Given the description of an element on the screen output the (x, y) to click on. 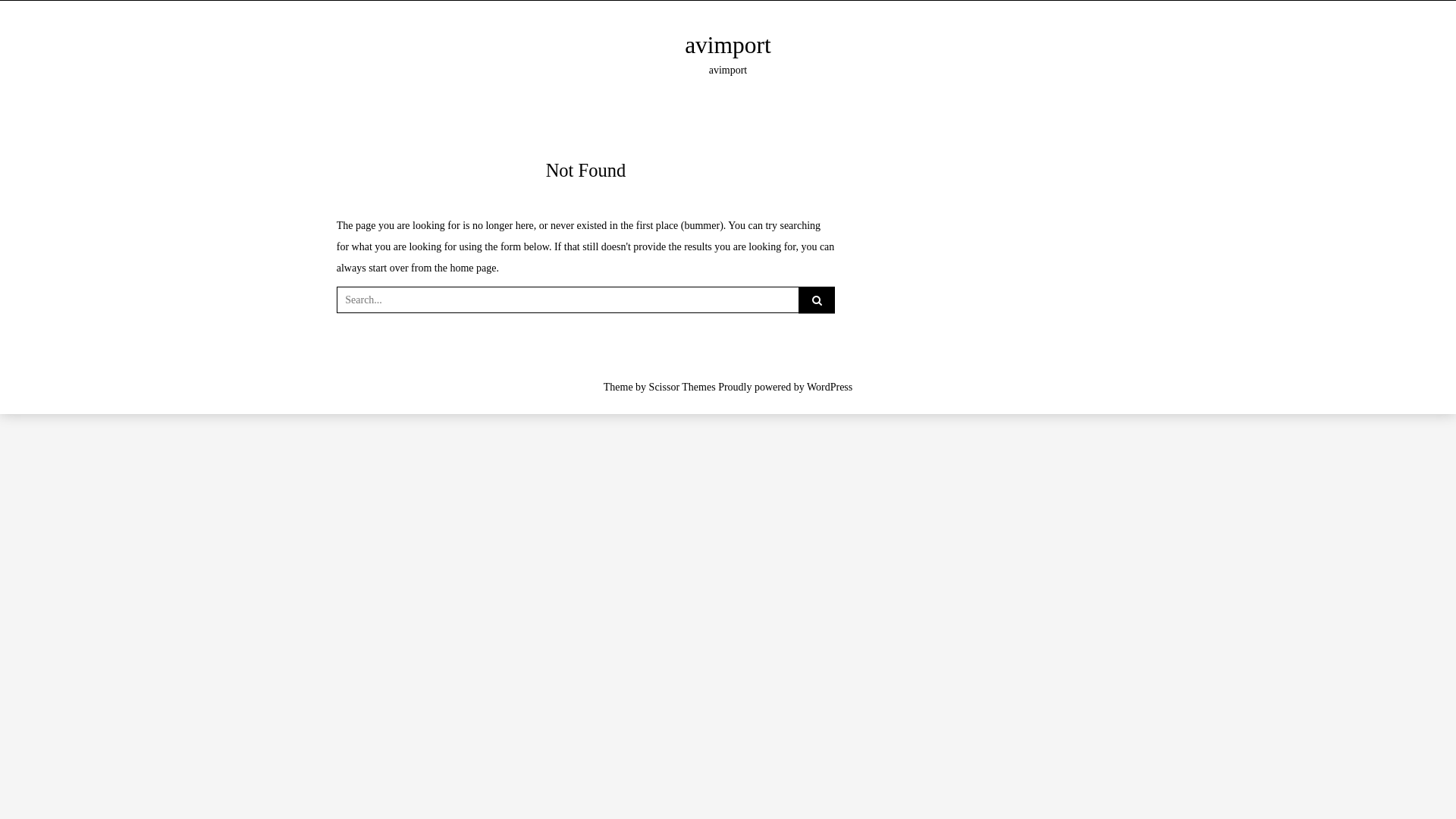
Scissor Themes Element type: text (682, 386)
Search Element type: text (31, 14)
avimport Element type: text (727, 44)
WordPress Element type: text (829, 386)
